Given the description of an element on the screen output the (x, y) to click on. 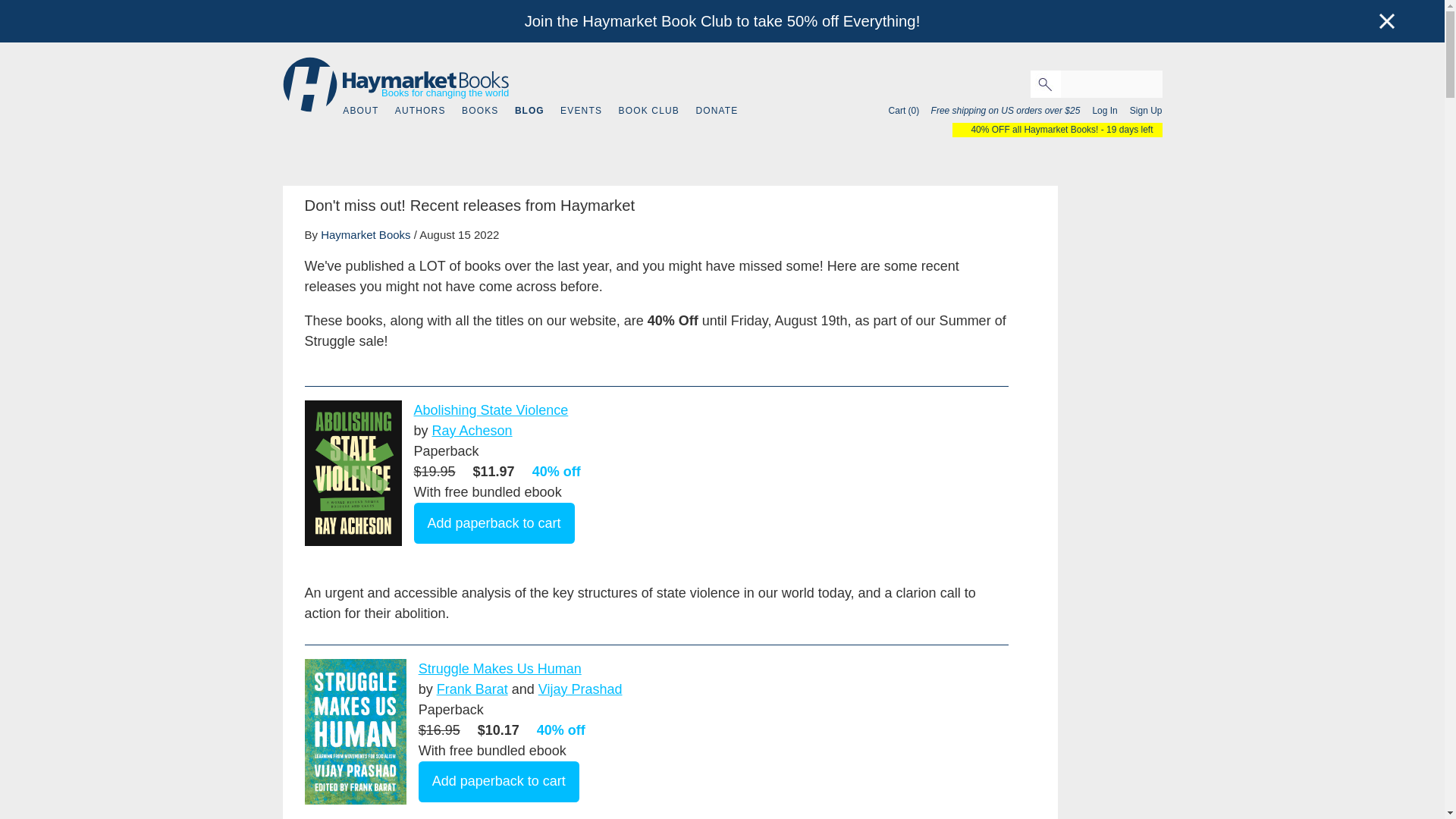
Add paperback to cart (494, 522)
Ray Acheson (472, 430)
Abolishing State Violence (491, 409)
BOOKS (479, 110)
Haymarket Books (365, 234)
AUTHORS (419, 110)
Sign Up (1141, 110)
ABOUT (360, 110)
EVENTS (581, 110)
Log In (1099, 110)
